Given the description of an element on the screen output the (x, y) to click on. 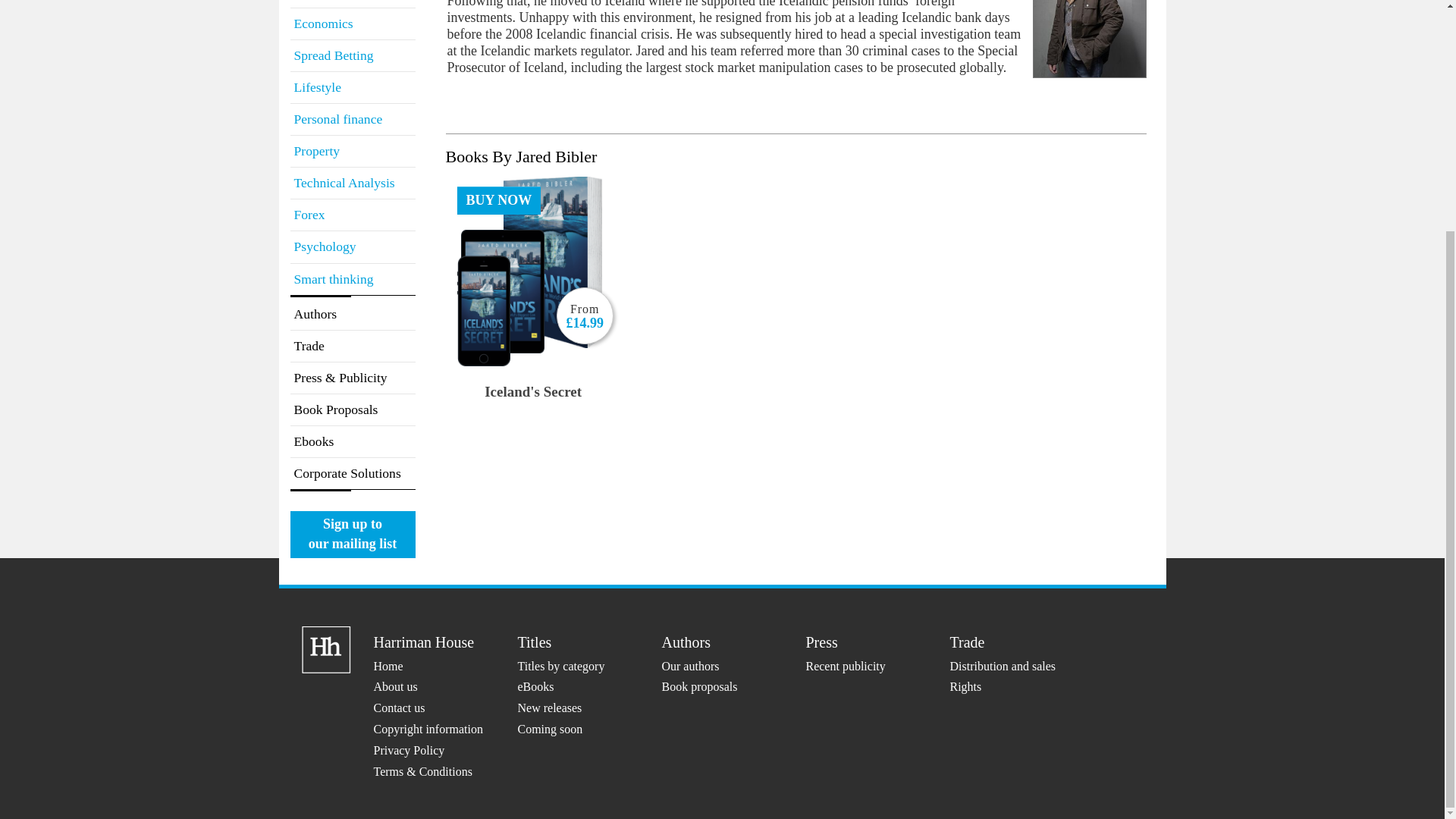
Business (351, 3)
